Given the description of an element on the screen output the (x, y) to click on. 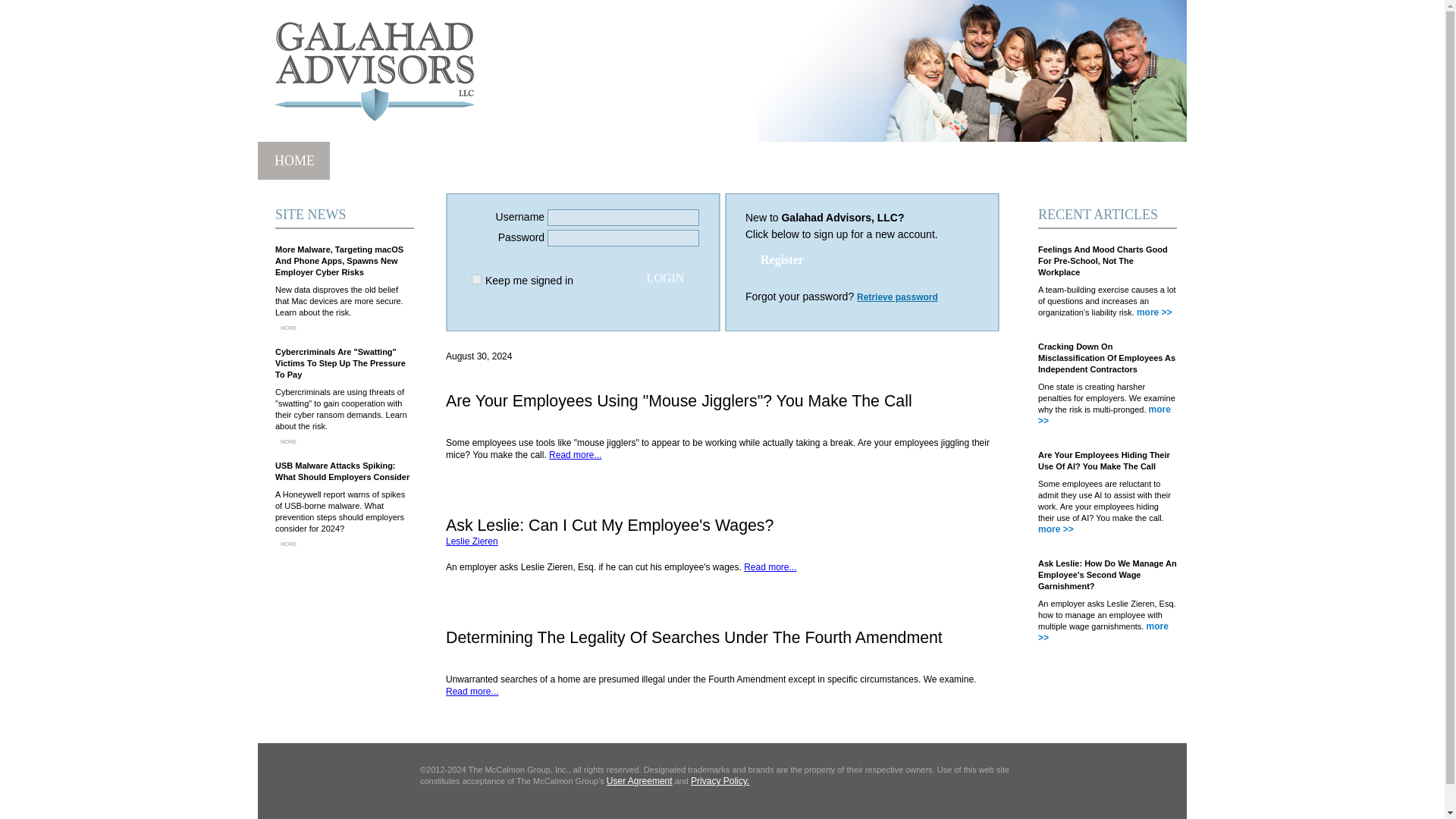
MORE (289, 544)
SERVICES (657, 160)
Privacy Policy. (719, 780)
Leslie Zieren (471, 541)
MORE (289, 441)
Read more... (574, 454)
LOGIN (664, 279)
Are Your Employees Using "Mouse Jigglers"? You Make The Call (678, 401)
Read more... (471, 691)
User Agreement (639, 780)
